Given the description of an element on the screen output the (x, y) to click on. 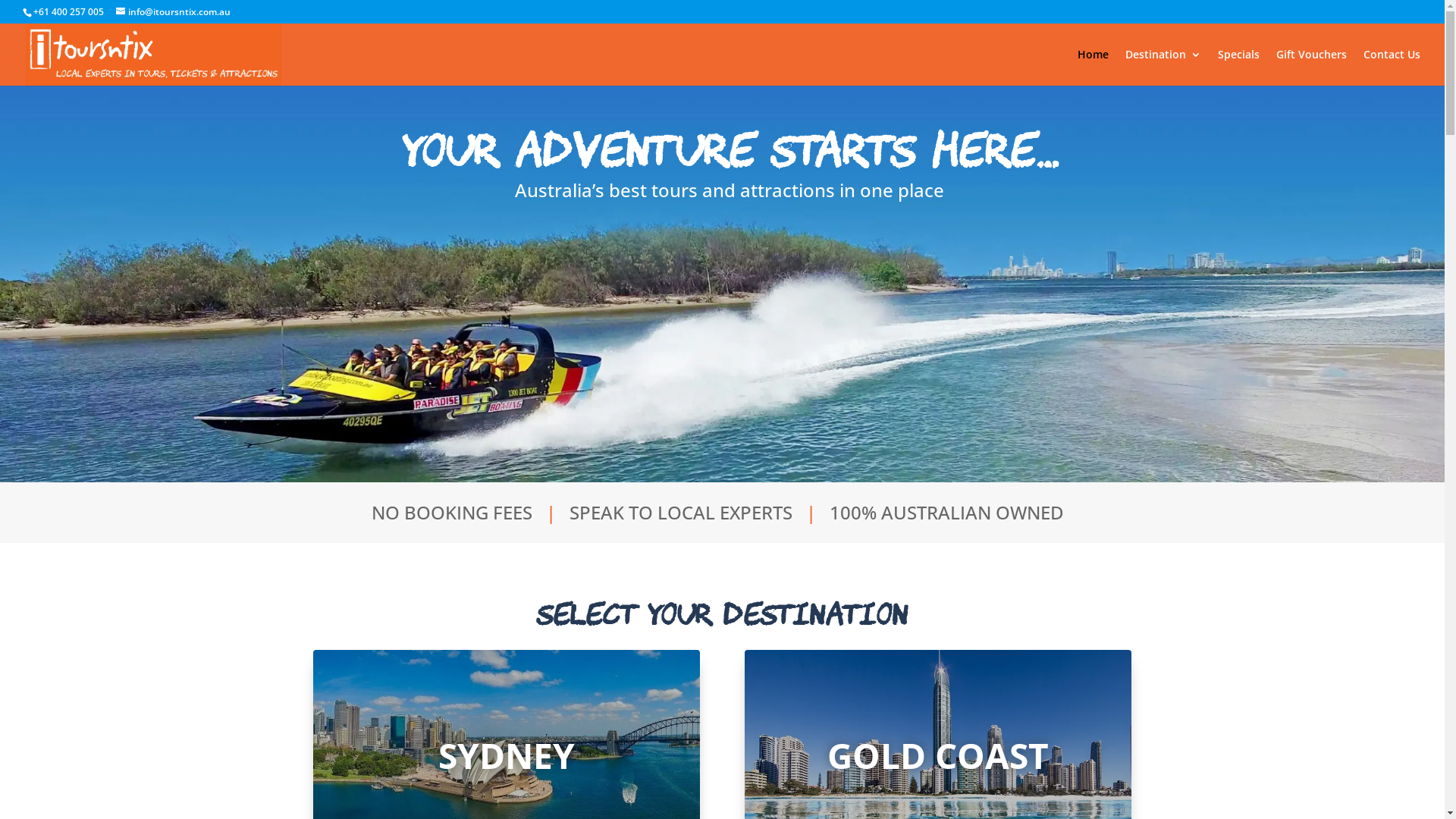
Destination Element type: text (1163, 67)
Contact Us Element type: text (1391, 67)
Specials Element type: text (1238, 67)
info@itoursntix.com.au Element type: text (173, 11)
Home Element type: text (1092, 67)
Gift Vouchers Element type: text (1311, 67)
